Given the description of an element on the screen output the (x, y) to click on. 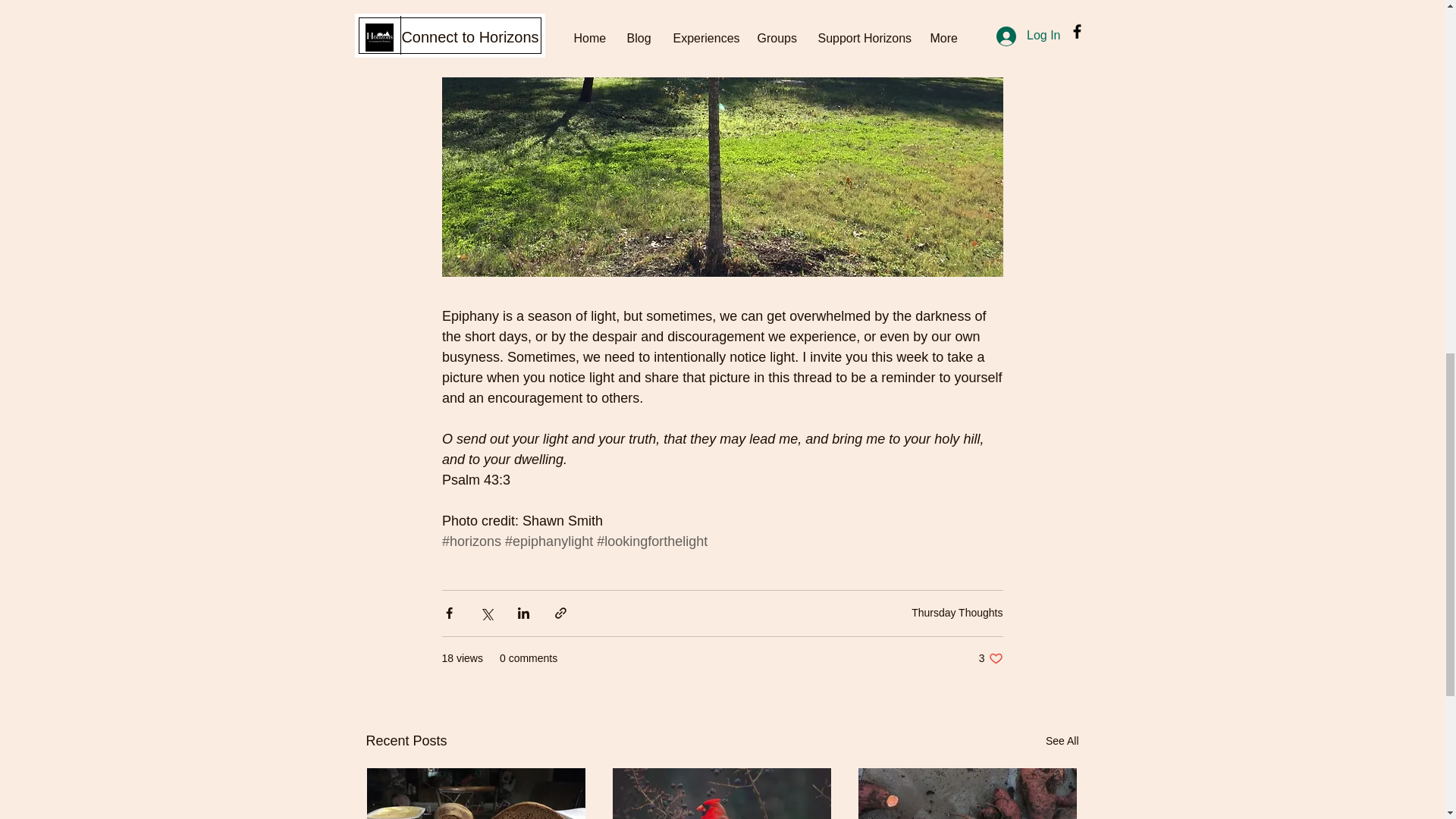
See All (990, 658)
Thursday Thoughts (1061, 741)
